Given the description of an element on the screen output the (x, y) to click on. 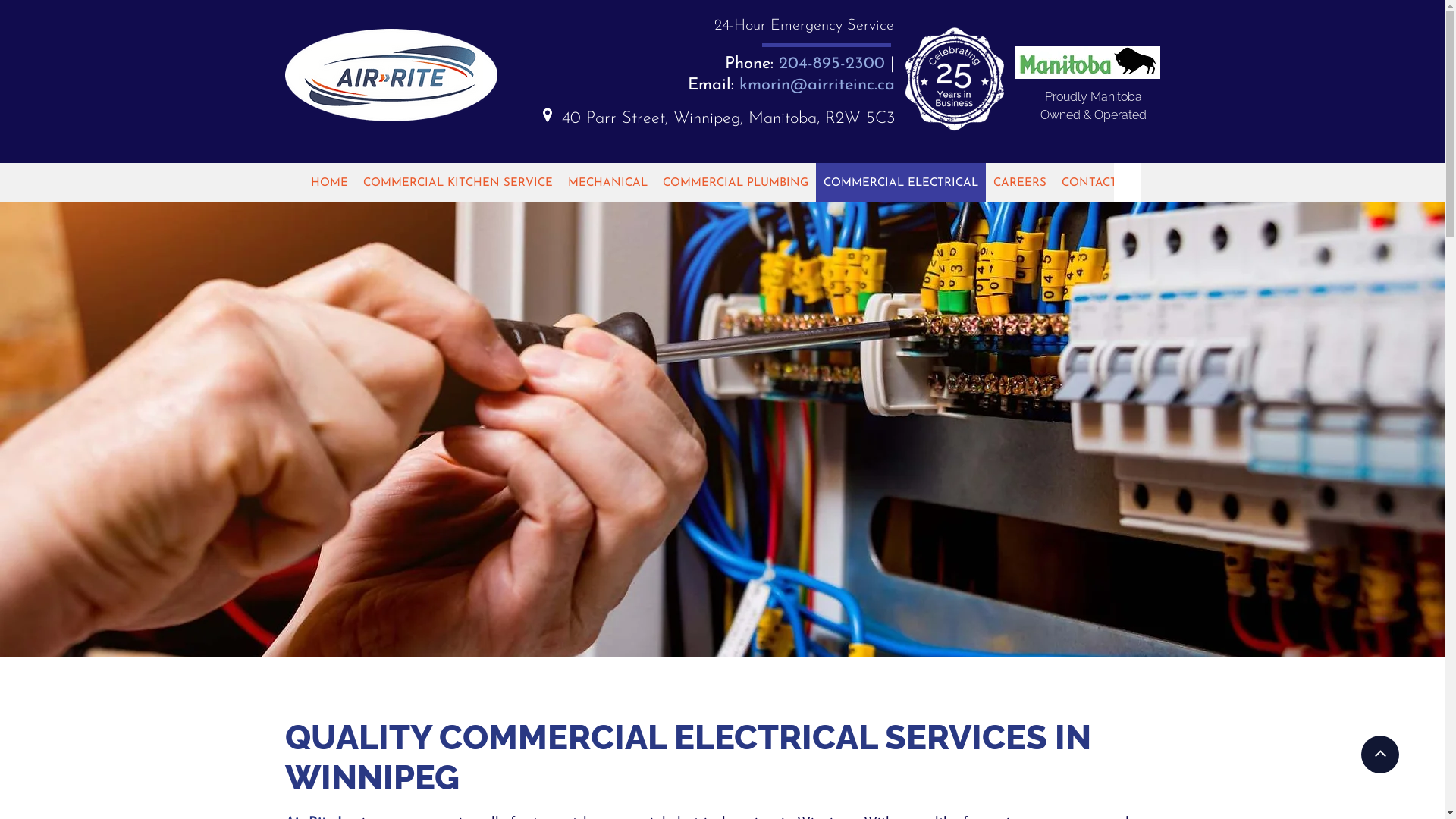
CAREERS Element type: text (1019, 182)
kmorin@airriteinc.ca Element type: text (816, 85)
HOME Element type: text (329, 182)
COMMERCIAL PLUMBING Element type: text (735, 182)
CONTACT US Element type: text (1098, 182)
COMMERCIAL ELECTRICAL Element type: text (900, 182)
MECHANICAL Element type: text (606, 182)
204-895-2300 Element type: text (831, 63)
COMMERCIAL KITCHEN SERVICE Element type: text (456, 182)
